Given the description of an element on the screen output the (x, y) to click on. 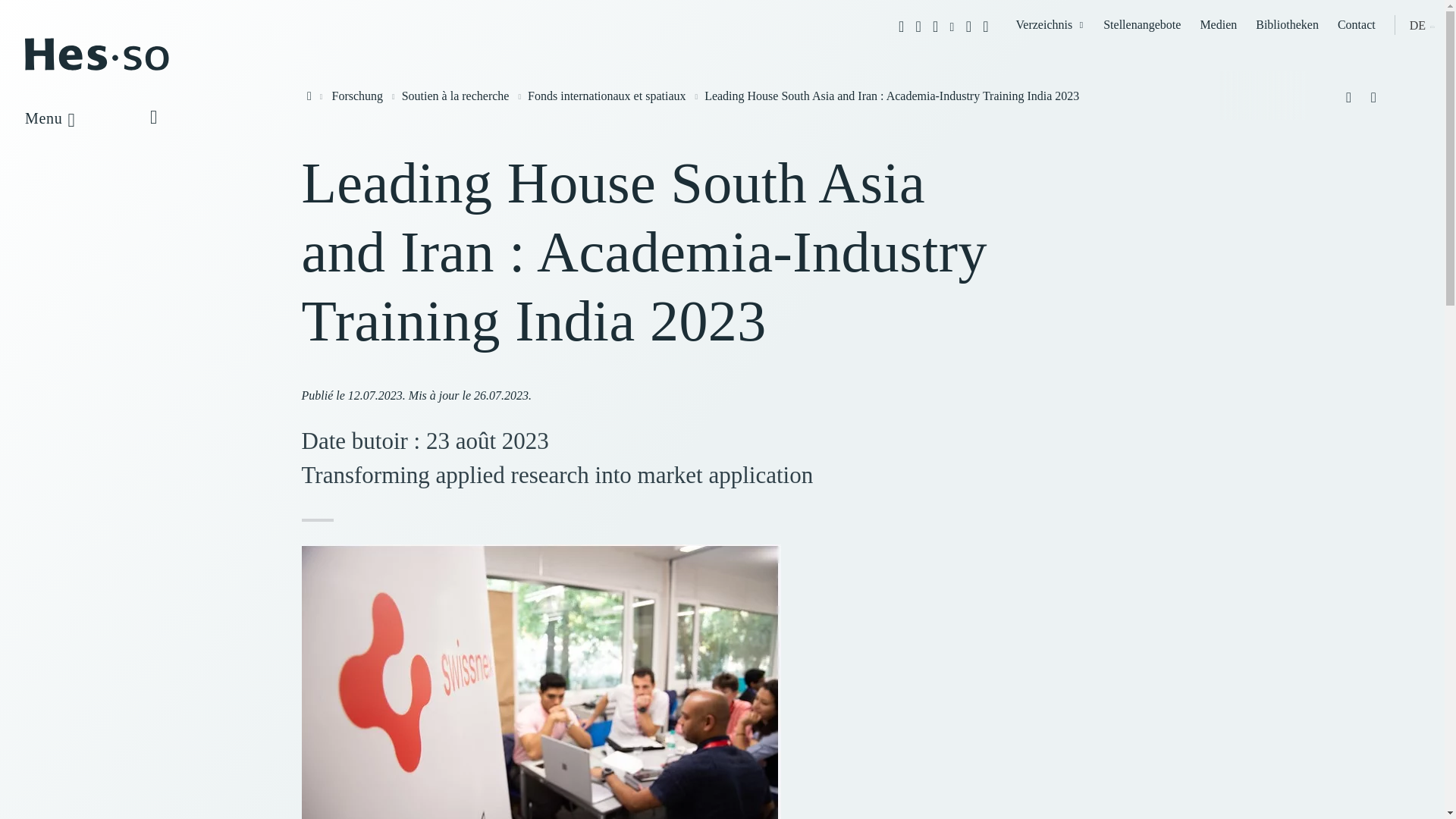
Verzeichnis (1050, 24)
Medien (1217, 24)
Stellenangebote (1141, 24)
Menu (68, 118)
Bibliotheken (1287, 24)
Contact (1356, 24)
HES-SO (96, 68)
